Given the description of an element on the screen output the (x, y) to click on. 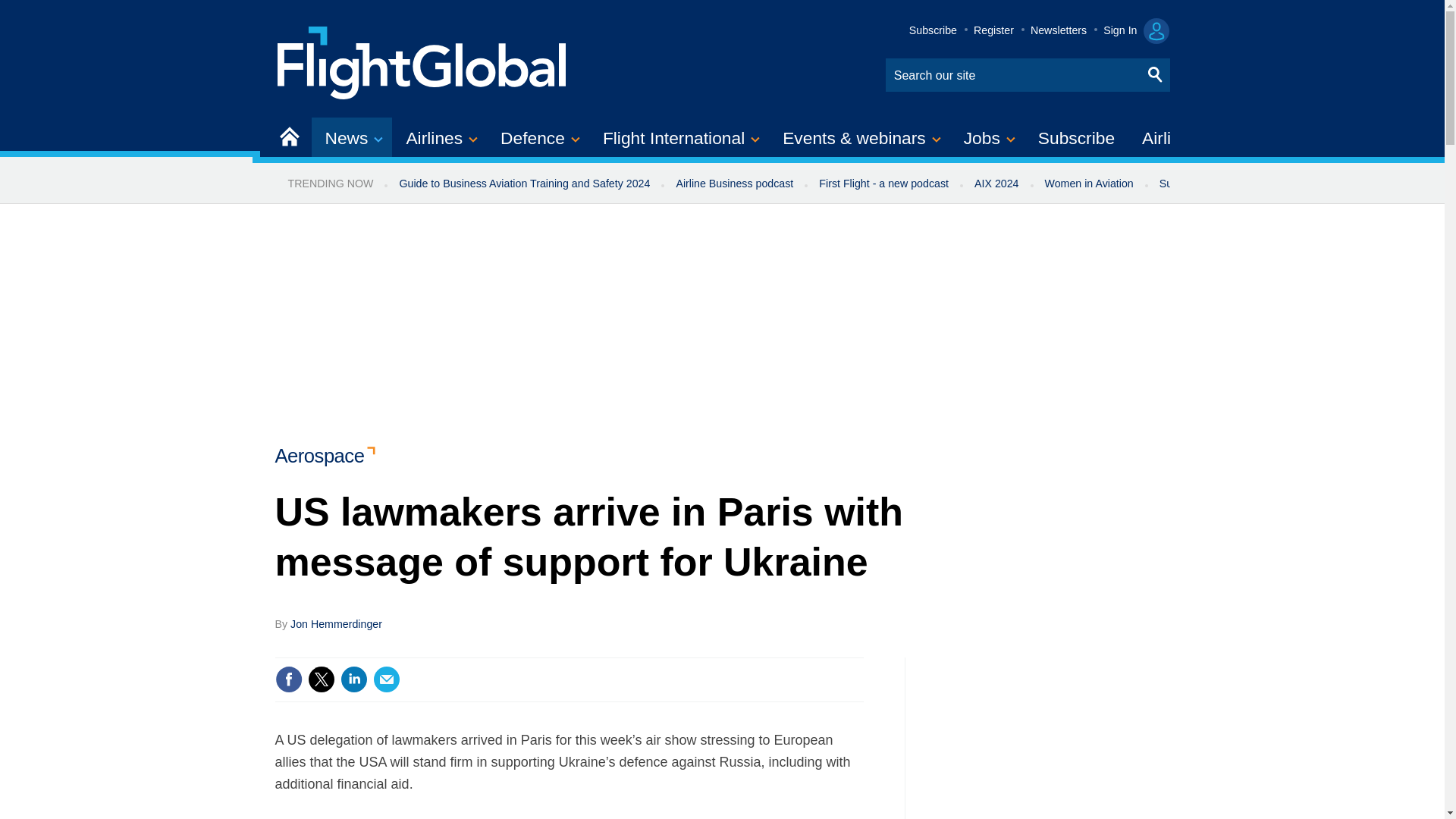
Share this on Linked in (352, 678)
First Flight - a new podcast (883, 183)
Site name (422, 60)
Sustainable Aviation newsletter (1234, 183)
Guide to Business Aviation Training and Safety 2024 (523, 183)
Share this on Twitter (320, 678)
AIX 2024 (996, 183)
Women in Aviation (1089, 183)
Airline Business podcast (734, 183)
Email this article (386, 678)
Share this on Facebook (288, 678)
